Given the description of an element on the screen output the (x, y) to click on. 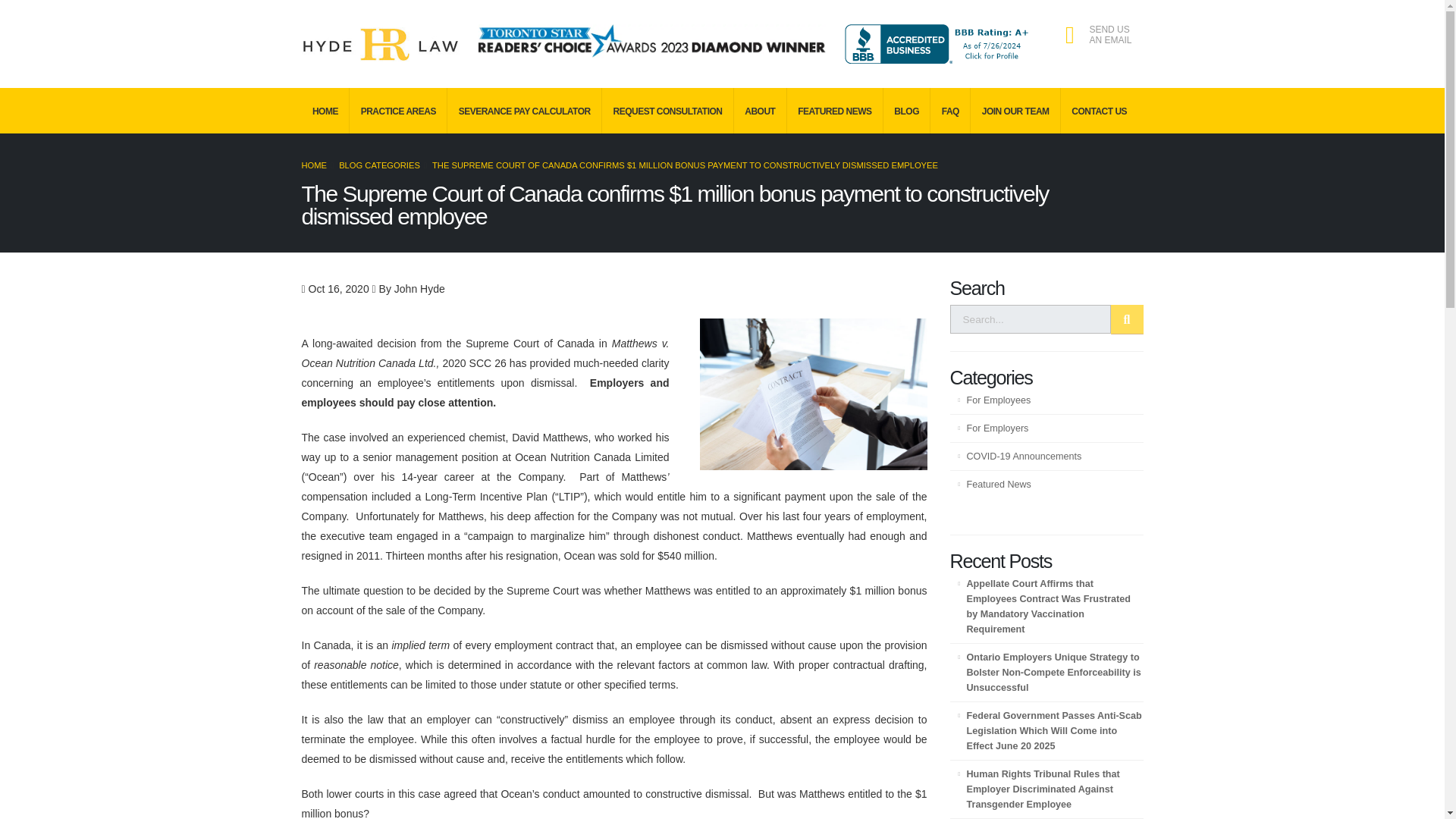
BLOG (906, 110)
For Employers (1045, 428)
FEATURED NEWS (835, 110)
CONTACT US (1099, 110)
SEVERANCE PAY CALCULATOR (524, 110)
Featured News (1045, 483)
ABOUT (760, 110)
HOME (314, 164)
PRACTICE AREAS (397, 110)
For Employees (1045, 400)
REQUEST CONSULTATION (667, 110)
HOME (325, 110)
JOIN OUR TEAM (1016, 110)
FAQ (950, 110)
BLOG CATEGORIES (379, 164)
